Given the description of an element on the screen output the (x, y) to click on. 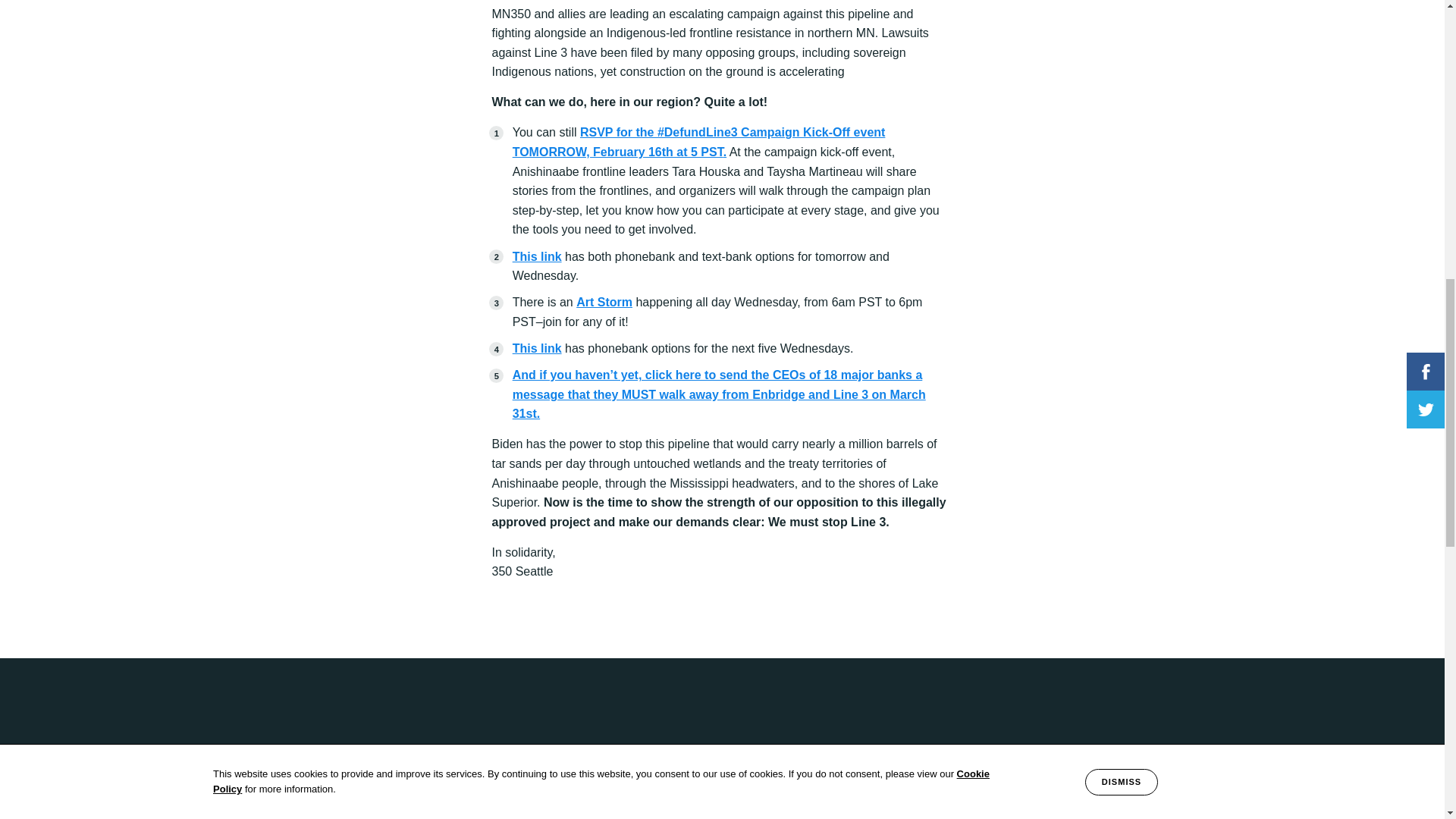
Art Storm (603, 301)
SIGN UP FOR WENATCHEE 350 CLIMATE CONVERSATIONS MAILING LIST (884, 810)
This link (537, 256)
This link (537, 348)
